Given the description of an element on the screen output the (x, y) to click on. 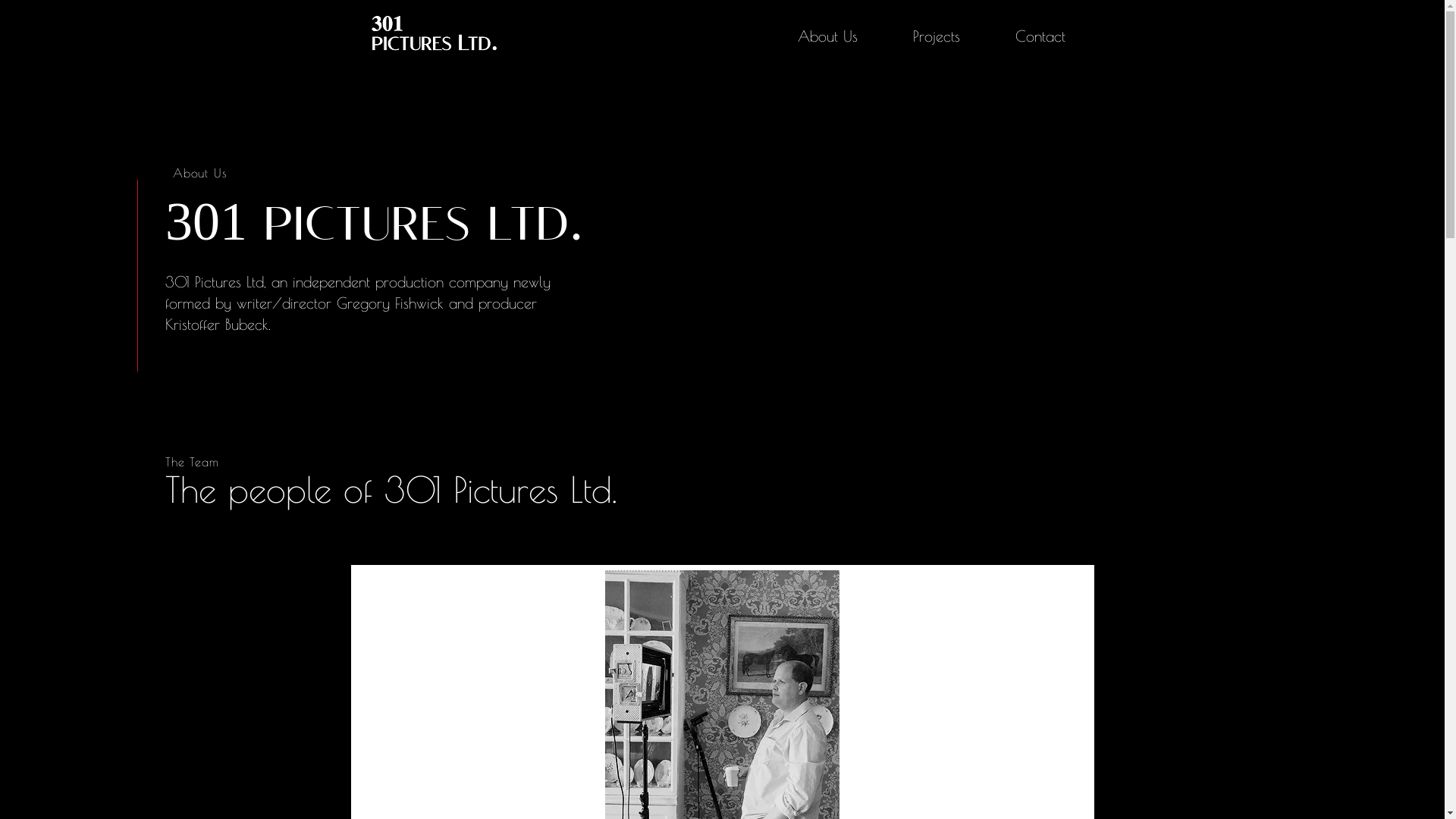
Projects Element type: text (936, 36)
Contact Element type: text (1039, 36)
About Us Element type: text (827, 36)
